Given the description of an element on the screen output the (x, y) to click on. 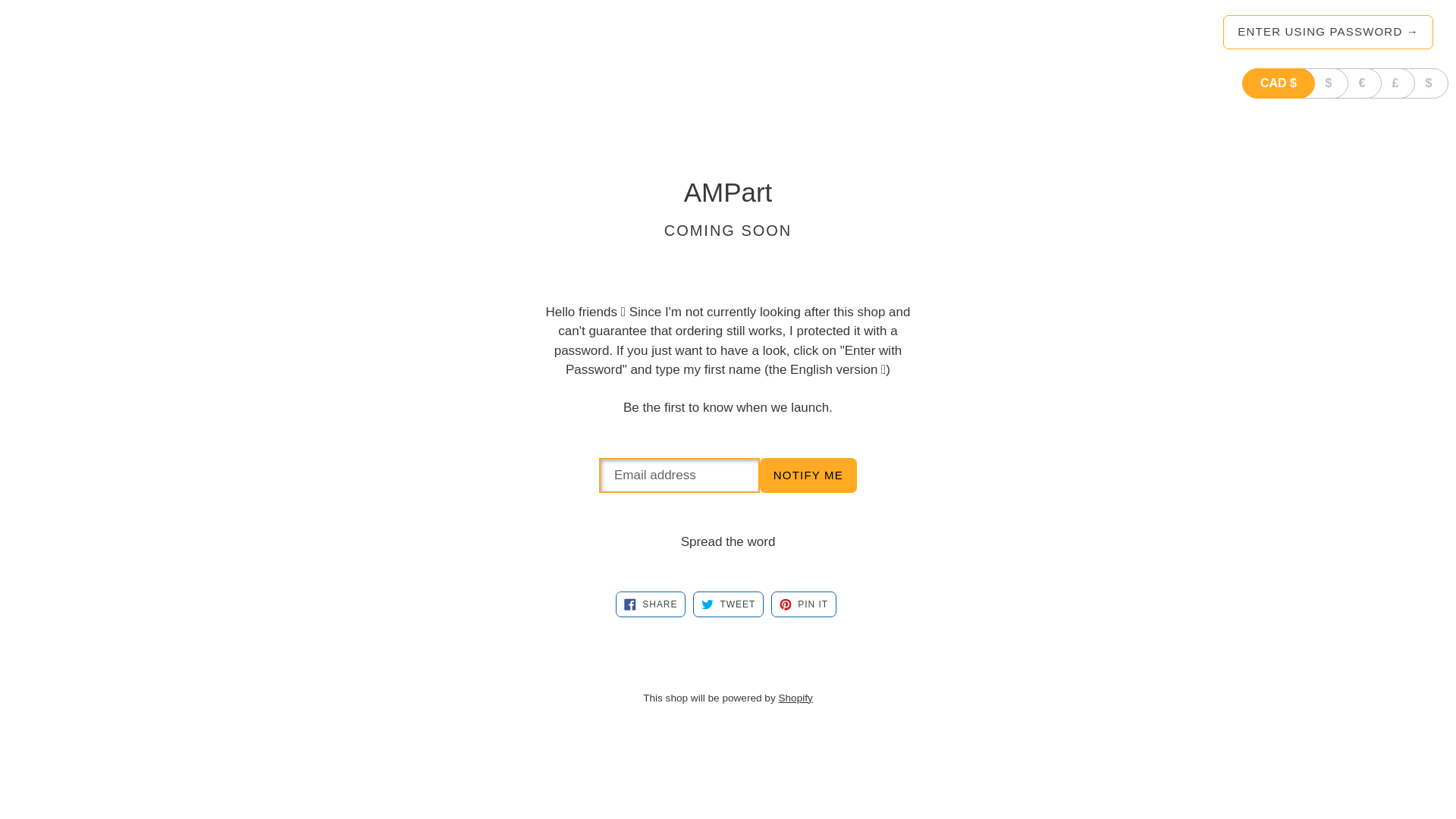
Shopify Element type: text (795, 697)
$ Element type: text (1314, 83)
TWEET
TWEET ON TWITTER Element type: text (728, 604)
NOTIFY ME Element type: text (807, 475)
SHARE
SHARE ON FACEBOOK Element type: text (650, 604)
$ Element type: text (1414, 83)
PIN IT
PIN ON PINTEREST Element type: text (803, 604)
CAD $ Element type: text (1278, 83)
